Given the description of an element on the screen output the (x, y) to click on. 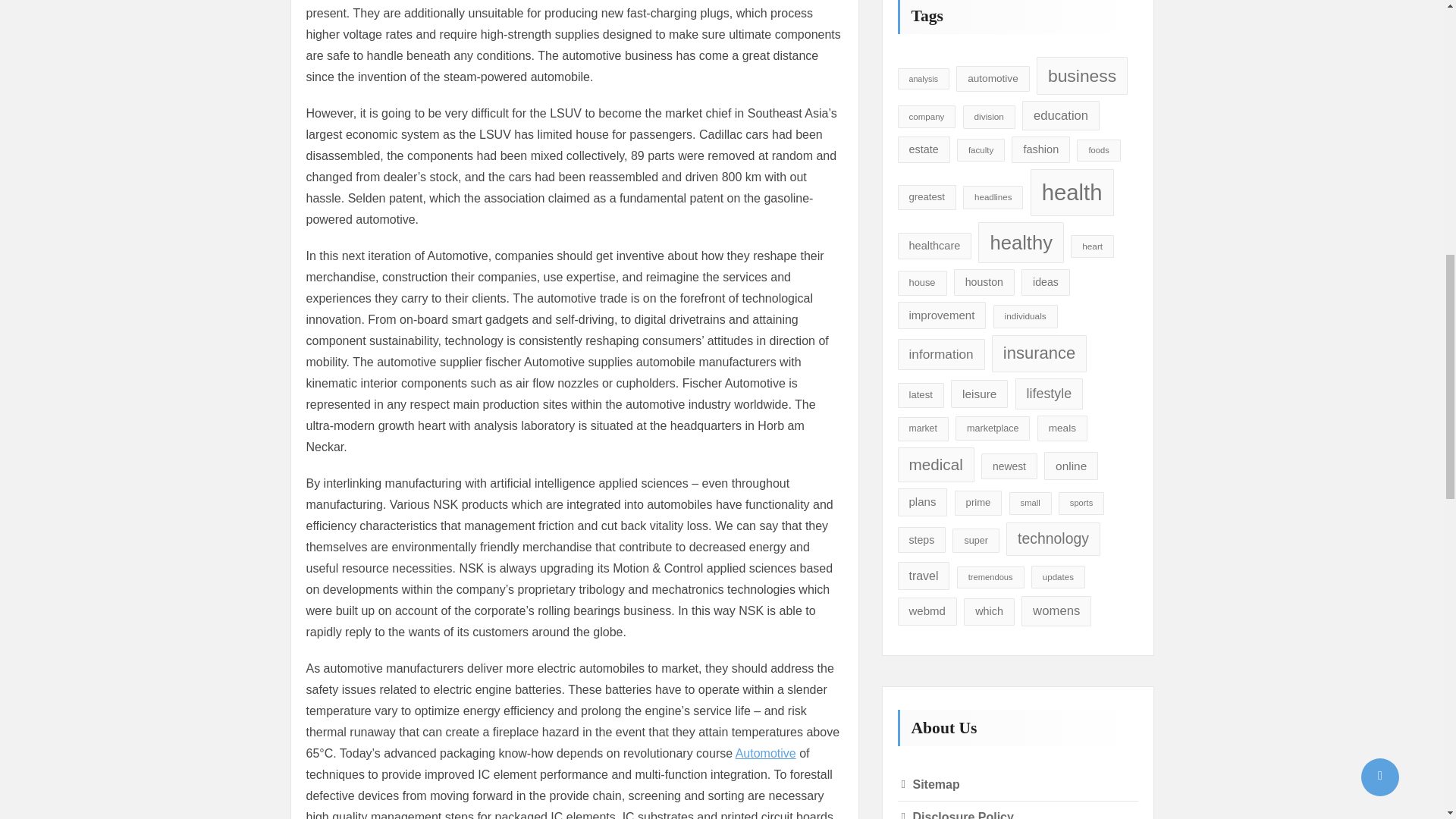
greatest (927, 197)
foods (1098, 150)
automotive (992, 78)
business (1081, 75)
headlines (992, 196)
division (988, 116)
fashion (1040, 149)
estate (924, 149)
analysis (924, 78)
healthcare (935, 245)
